Given the description of an element on the screen output the (x, y) to click on. 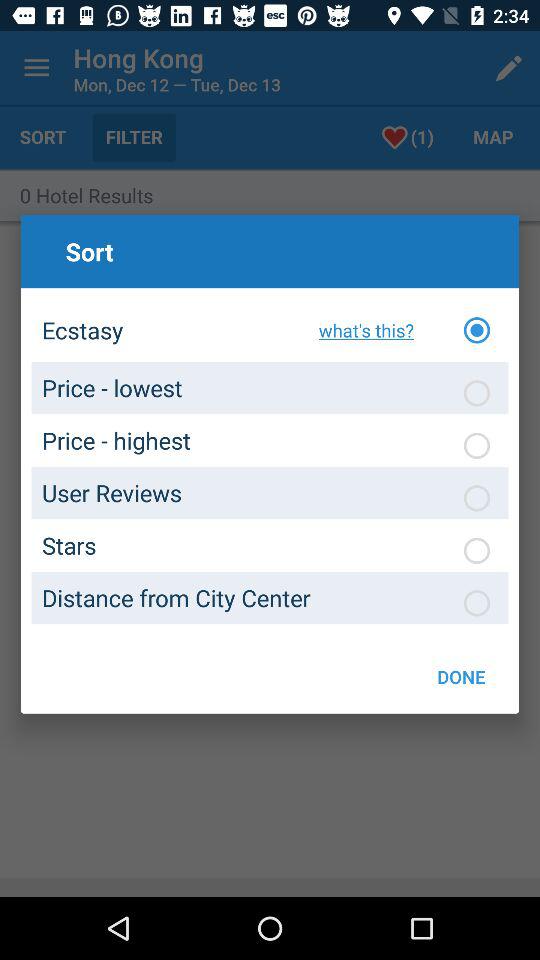
select option (477, 393)
